Given the description of an element on the screen output the (x, y) to click on. 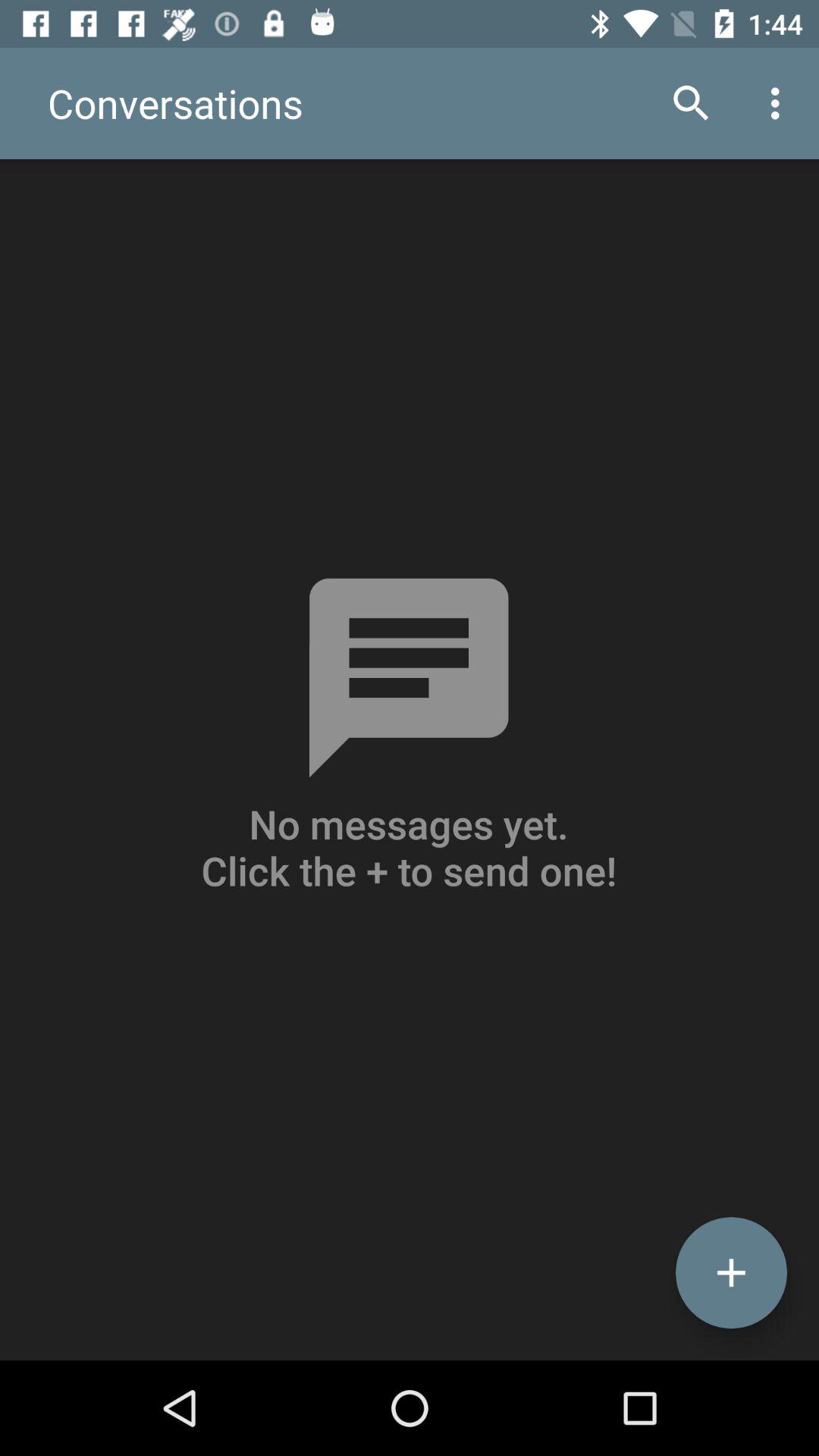
add option (731, 1272)
